Given the description of an element on the screen output the (x, y) to click on. 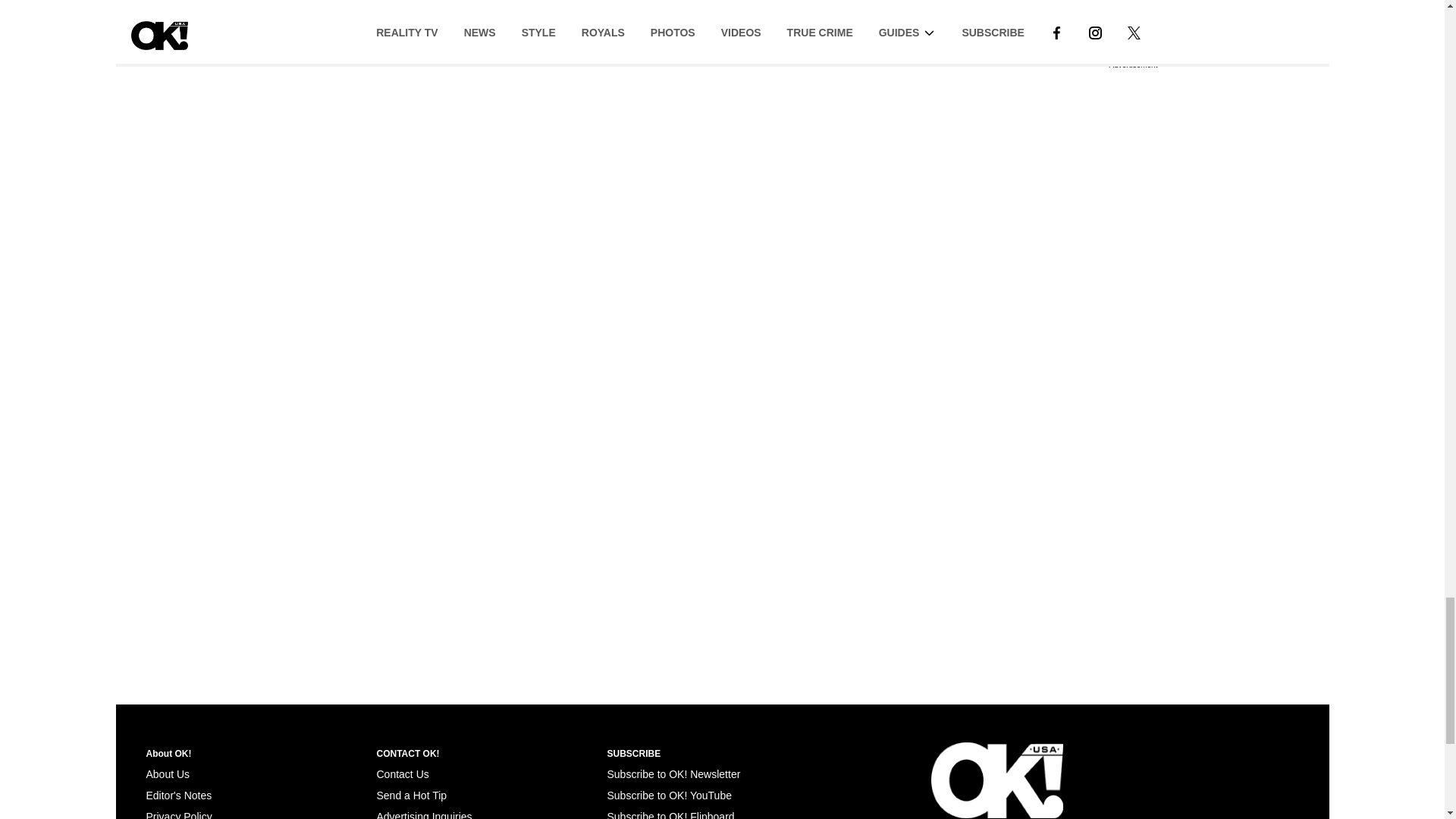
Send a Hot Tip (410, 795)
About Us (167, 774)
Contact Us (401, 774)
Editor's Notes (178, 795)
Privacy Policy (178, 814)
